Given the description of an element on the screen output the (x, y) to click on. 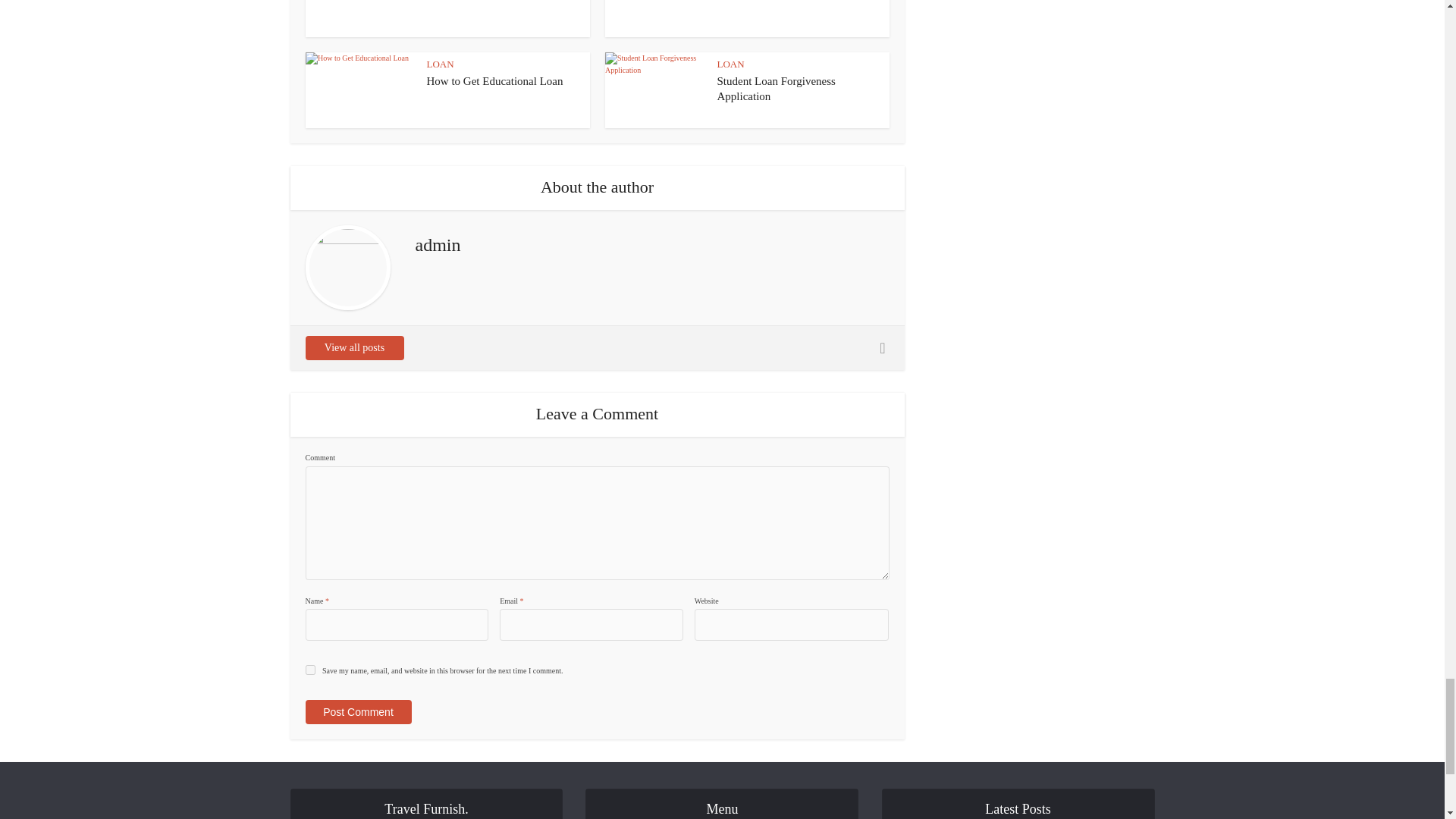
yes (309, 669)
Student Loan Forgiveness Application (776, 88)
Post Comment (357, 711)
How to Get Educational Loan (494, 80)
